Given the description of an element on the screen output the (x, y) to click on. 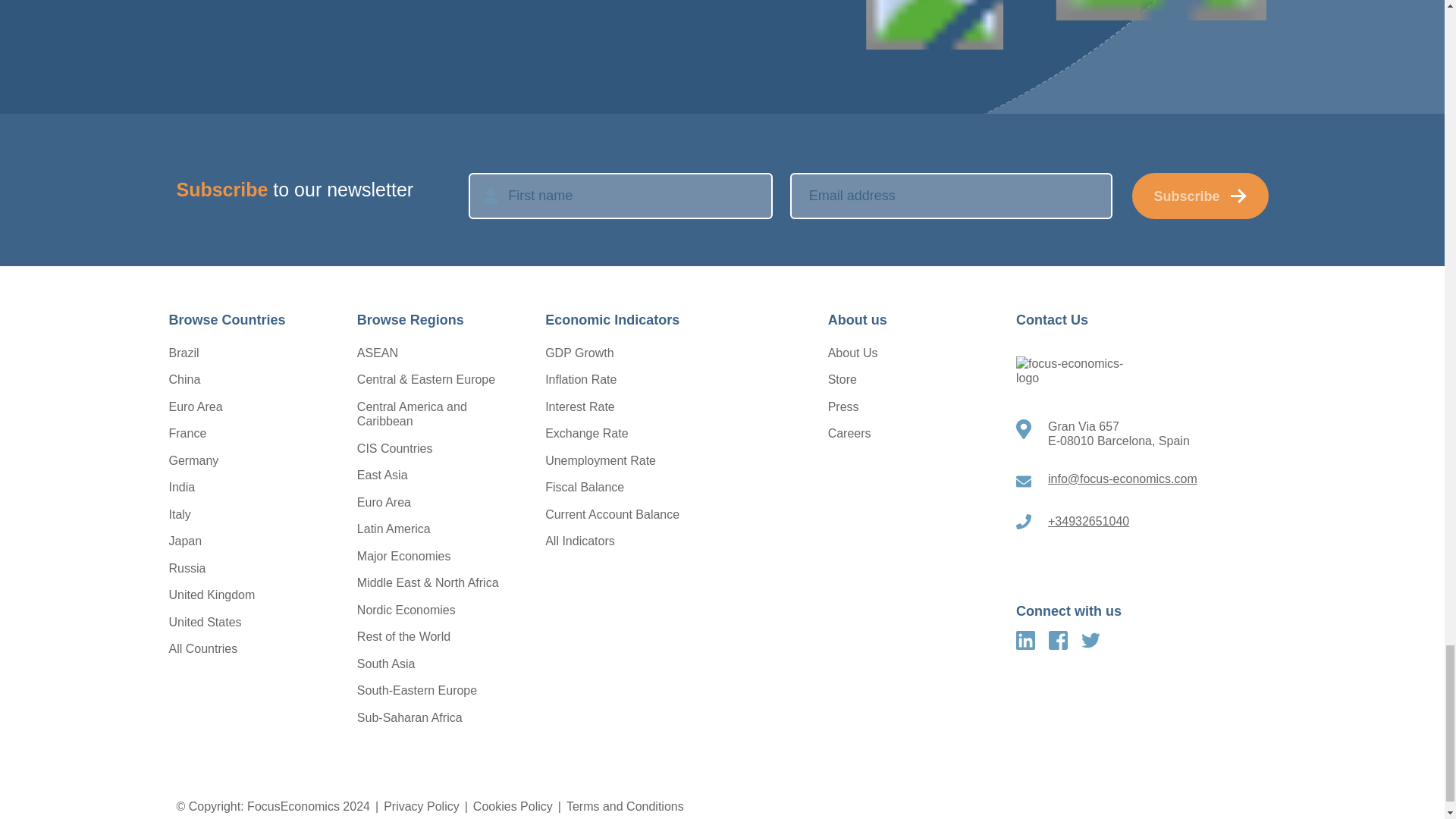
Subscribe (1200, 195)
